Given the description of an element on the screen output the (x, y) to click on. 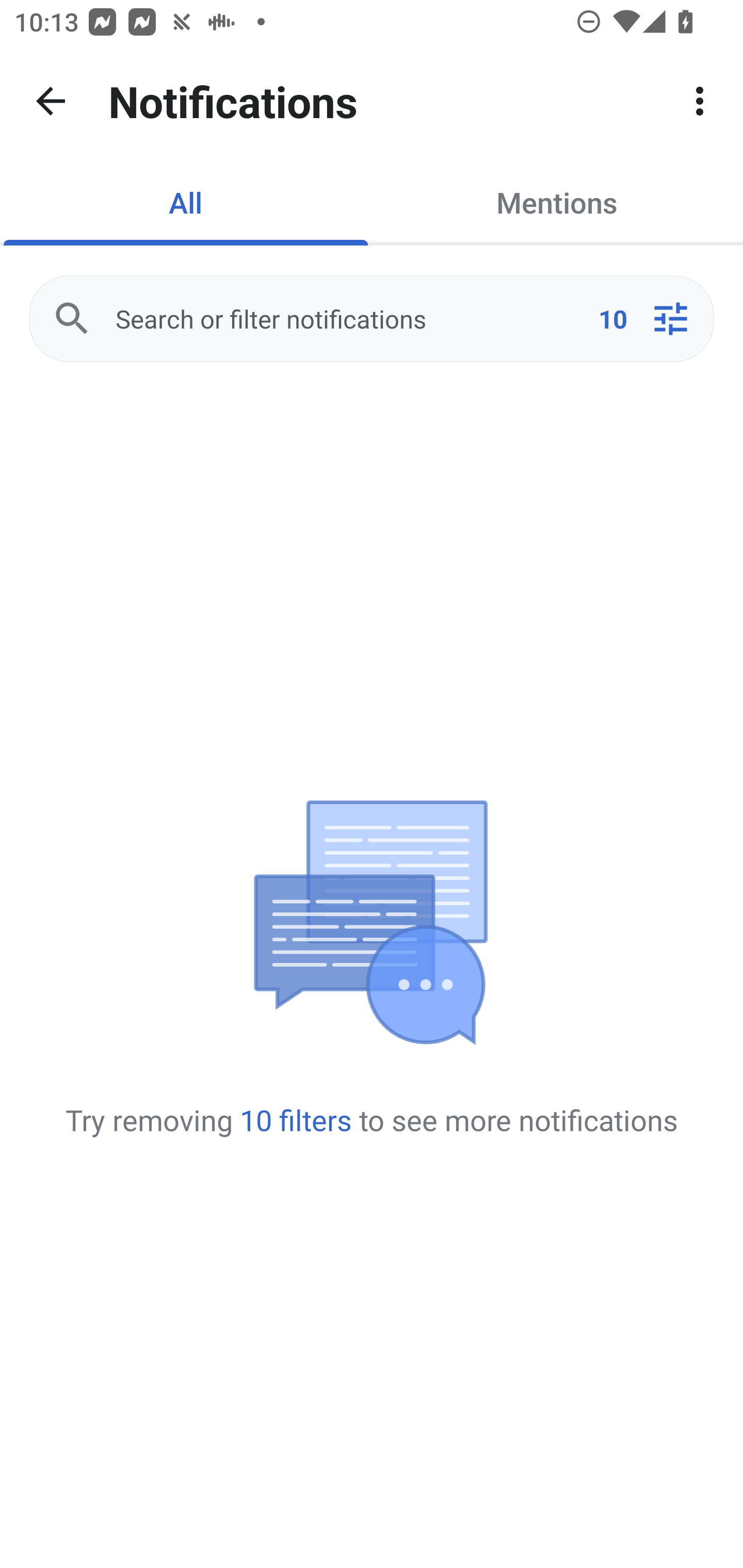
Navigate up (50, 101)
More (699, 101)
Mentions (557, 202)
Notification filter (670, 318)
